Given the description of an element on the screen output the (x, y) to click on. 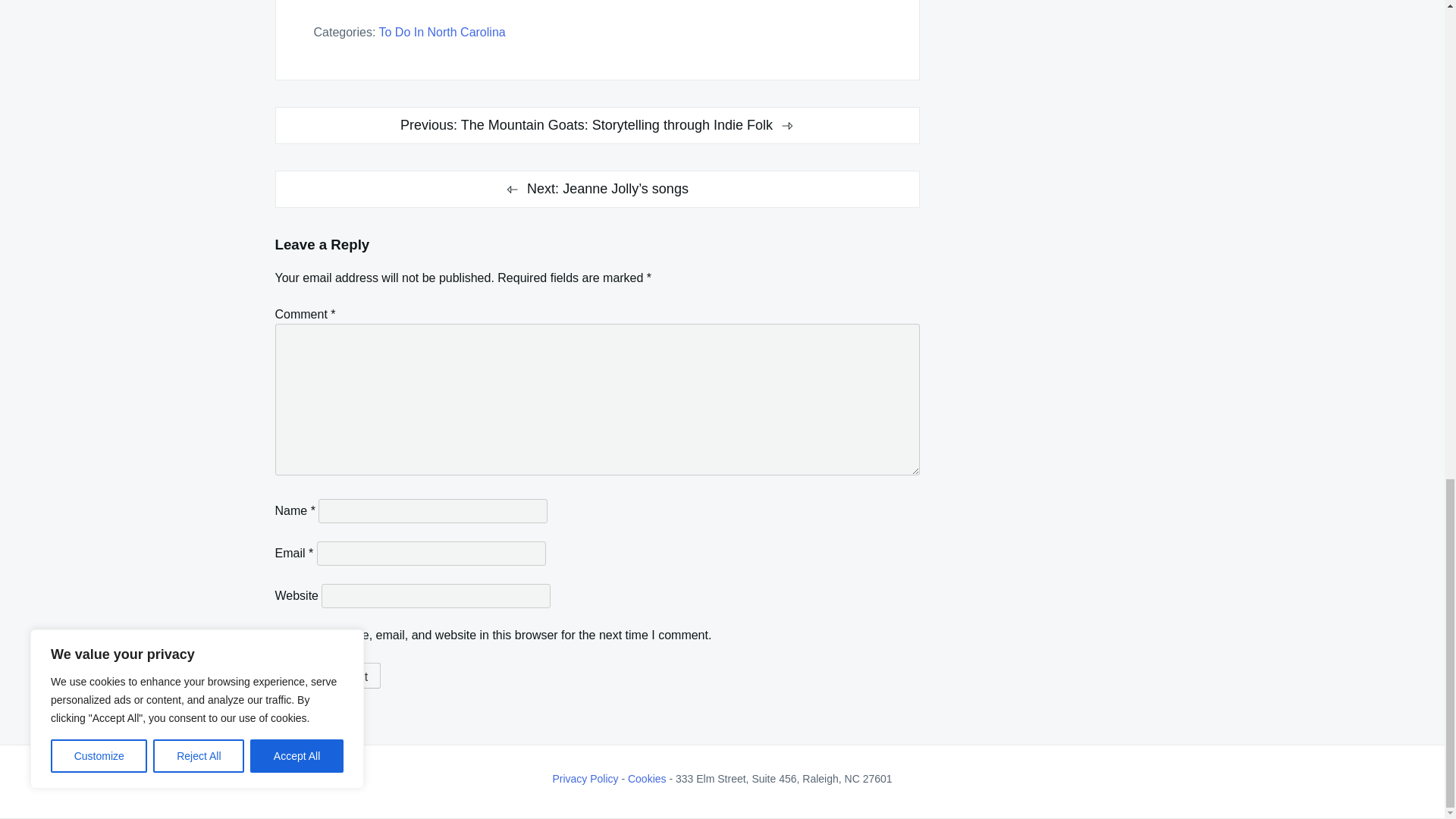
Post Comment (327, 675)
yes (279, 634)
To Do In North Carolina (441, 31)
Post Comment (327, 675)
